Given the description of an element on the screen output the (x, y) to click on. 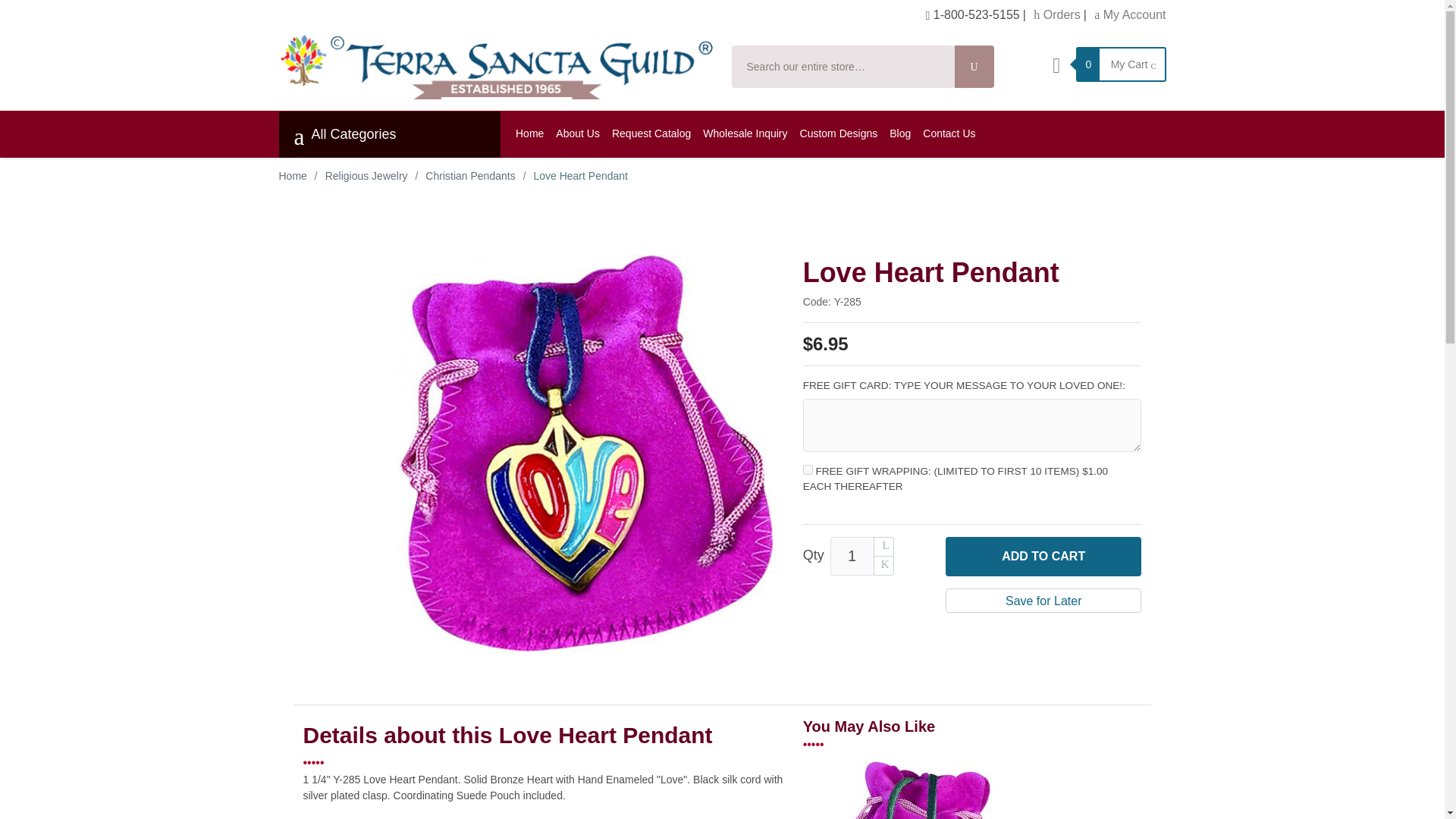
Terra Sancta Guild (495, 66)
Search (974, 66)
Save for Later (1042, 600)
1 (852, 556)
FREE GIFT CARD: TYPE YOUR MESSAGE TO YOUR LOVED ONE!: (964, 385)
Pink Daisy Pendant (906, 790)
on (807, 470)
